Given the description of an element on the screen output the (x, y) to click on. 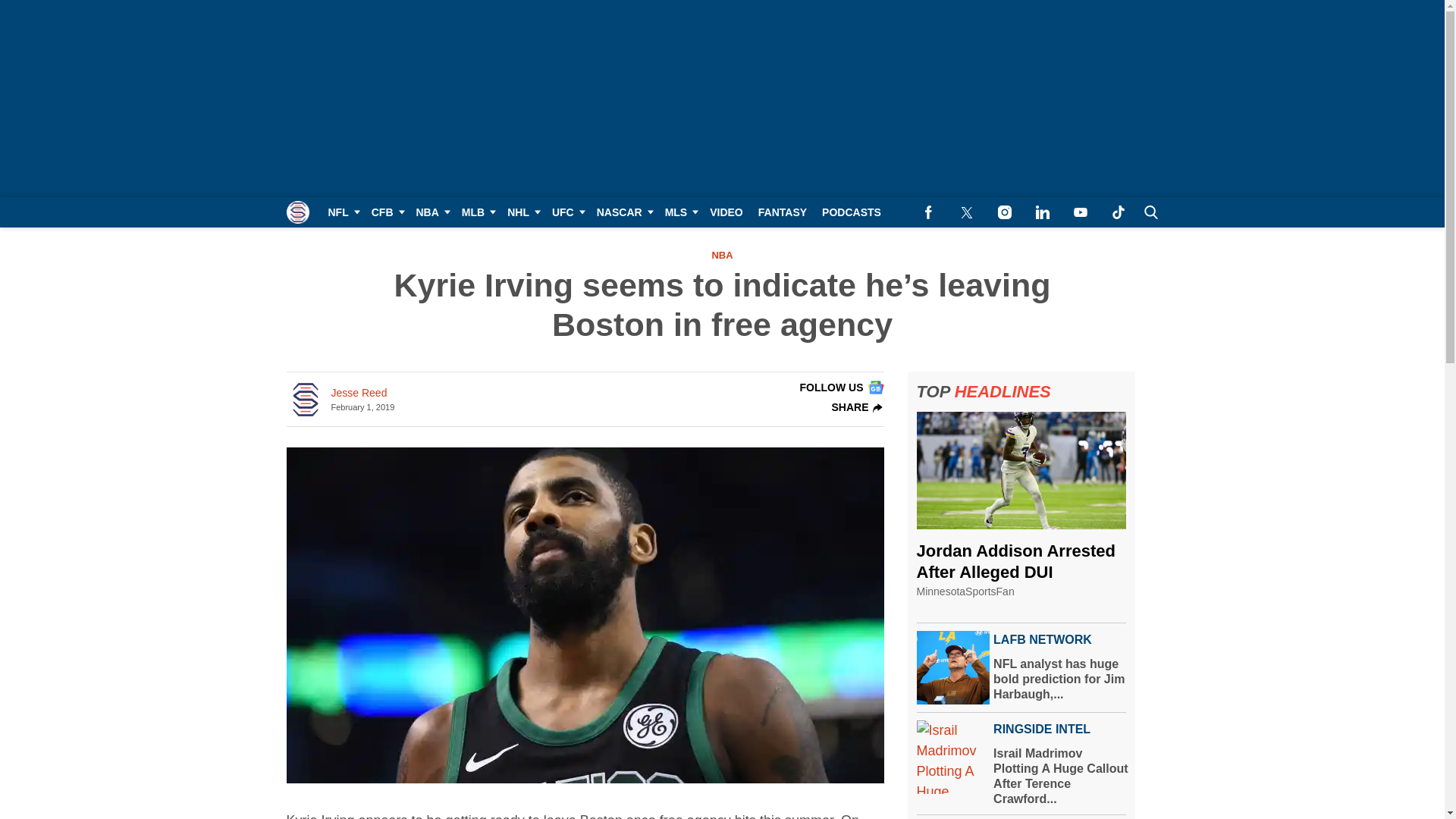
CFB (386, 212)
Follow us on Facebook (928, 212)
Subscribe to our TikTok channel (1118, 212)
NBA (429, 212)
MLB (476, 212)
Subscribe to our YouTube channel (1080, 212)
Posts by Jesse Reed (358, 392)
NHL (521, 212)
Follow us on Instagram (1004, 212)
NFL (341, 212)
